Given the description of an element on the screen output the (x, y) to click on. 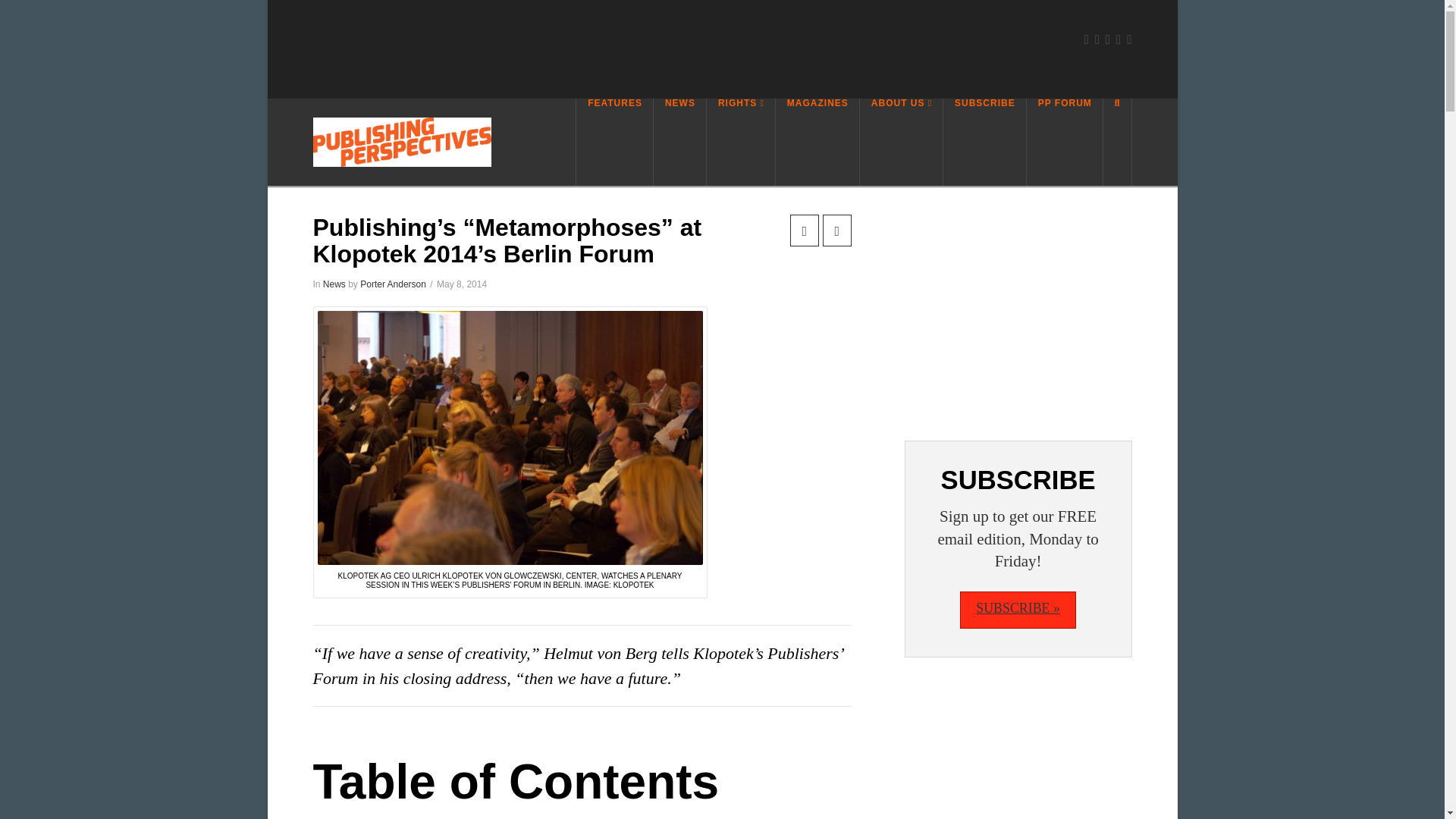
Porter Anderson (392, 284)
MAGAZINES (818, 141)
FEATURES (614, 141)
SUBSCRIBE (984, 141)
ABOUT US (901, 141)
News (334, 284)
